Given the description of an element on the screen output the (x, y) to click on. 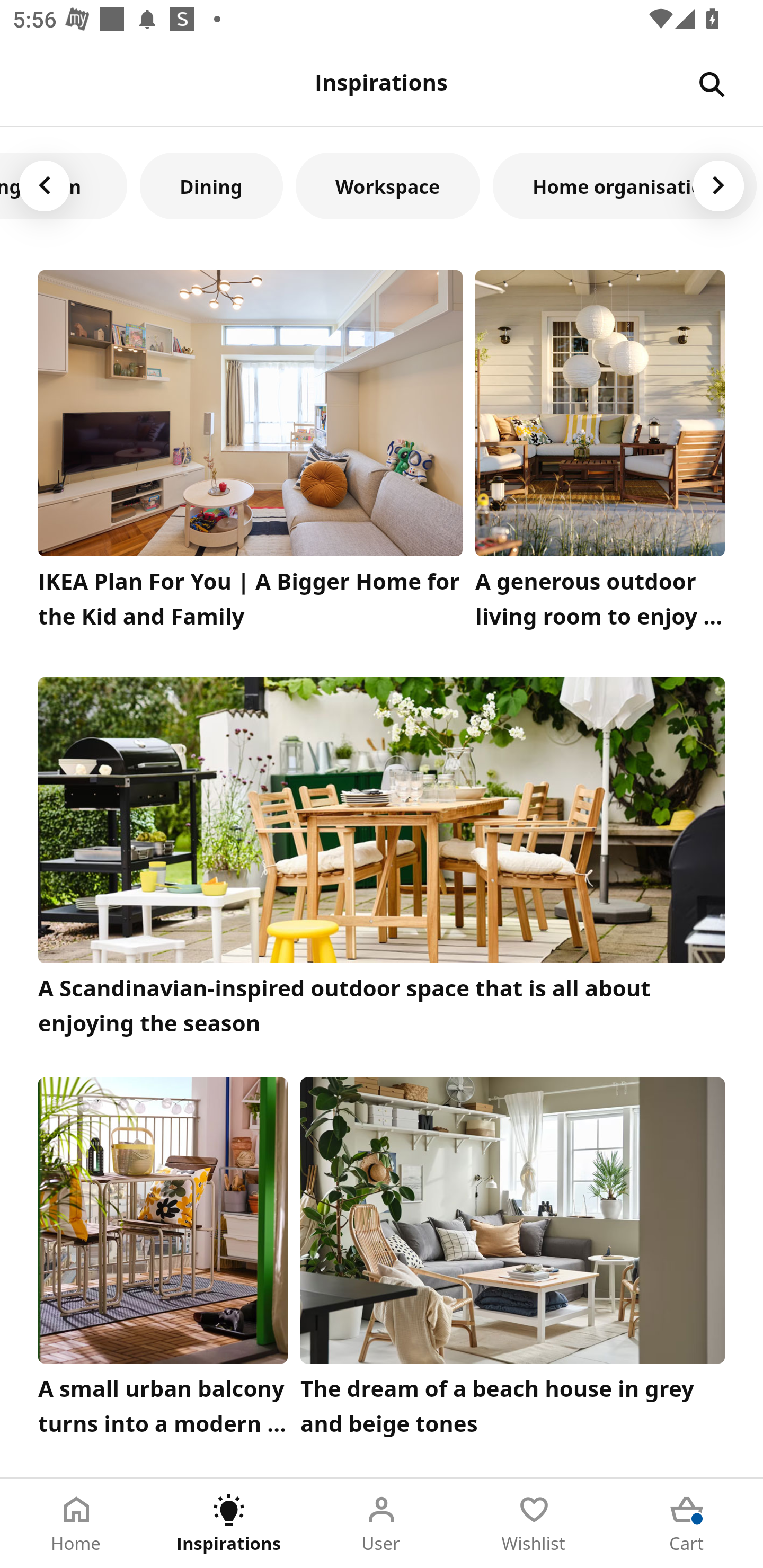
Dining (211, 185)
Workspace (387, 185)
Home organisation (624, 185)
The dream of a beach house in grey and beige tones (512, 1261)
Home
Tab 1 of 5 (76, 1522)
Inspirations
Tab 2 of 5 (228, 1522)
User
Tab 3 of 5 (381, 1522)
Wishlist
Tab 4 of 5 (533, 1522)
Cart
Tab 5 of 5 (686, 1522)
